Given the description of an element on the screen output the (x, y) to click on. 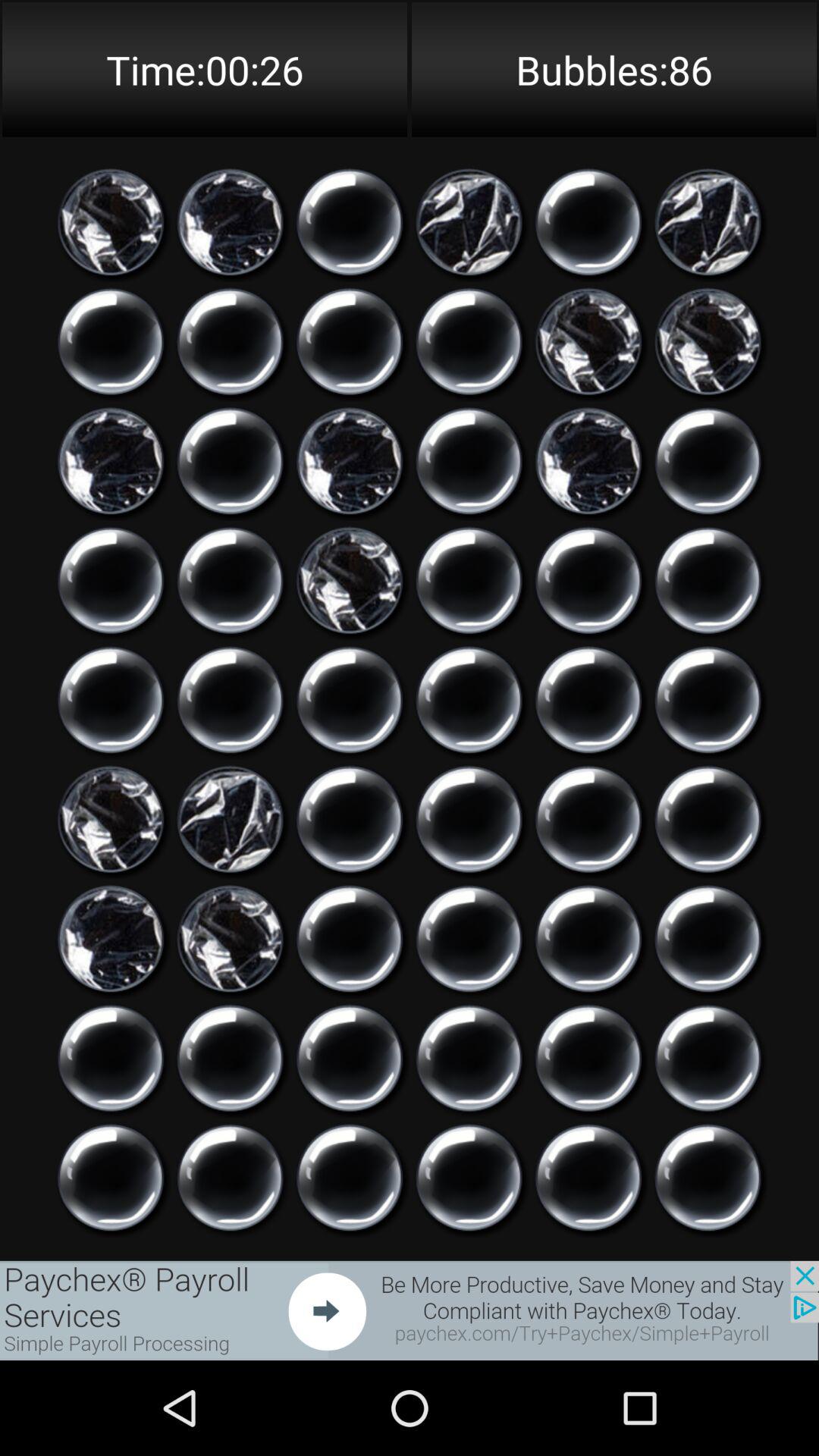
click bubble (110, 1058)
